Given the description of an element on the screen output the (x, y) to click on. 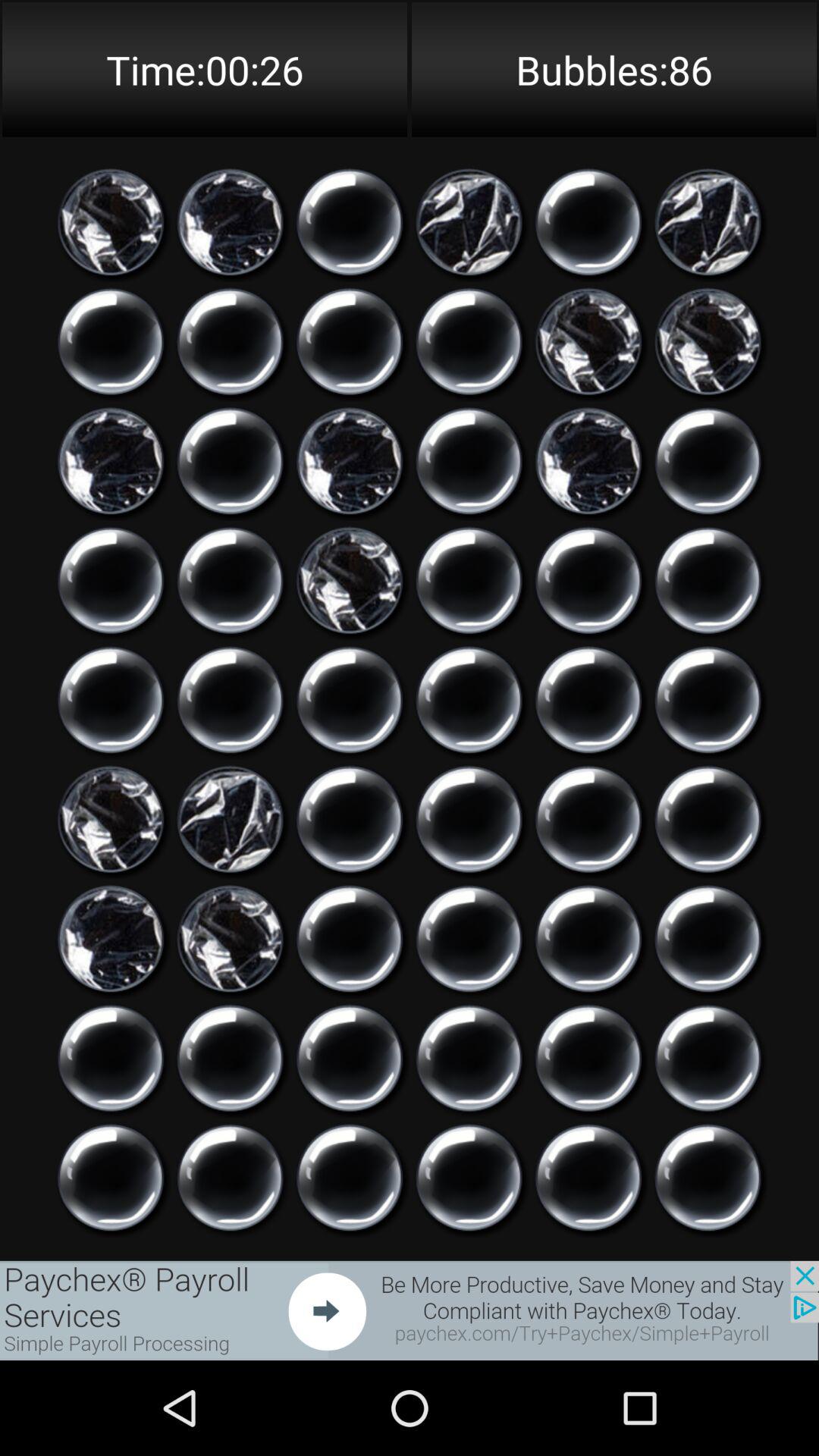
click bubble (110, 1058)
